Given the description of an element on the screen output the (x, y) to click on. 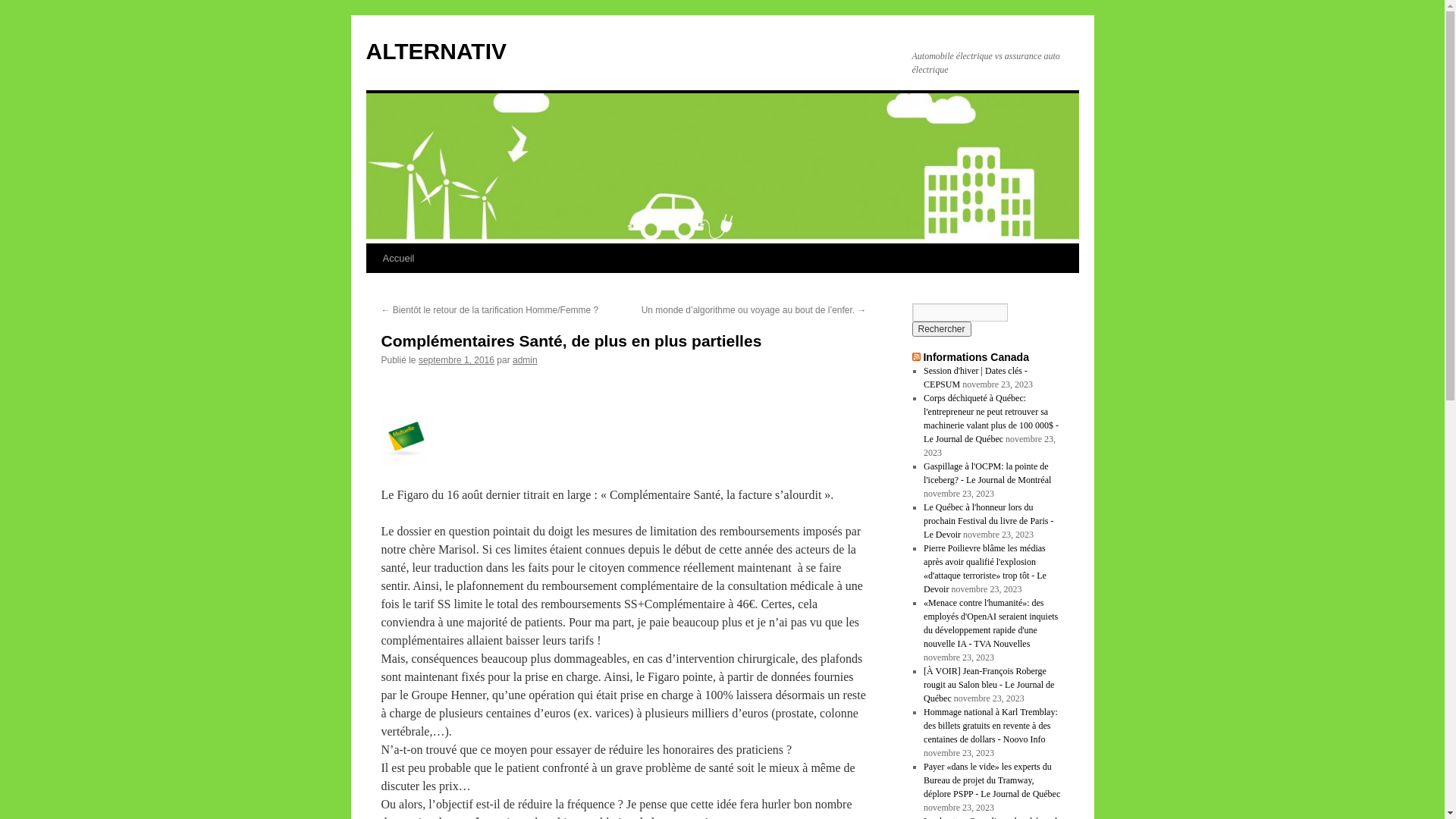
Accueil Element type: text (397, 258)
admin Element type: text (524, 359)
Informations Canada Element type: text (975, 357)
ALTERNATIV Element type: text (435, 50)
Aller au contenu Element type: text (372, 286)
septembre 1, 2016 Element type: text (456, 359)
Rechercher Element type: text (940, 328)
